Given the description of an element on the screen output the (x, y) to click on. 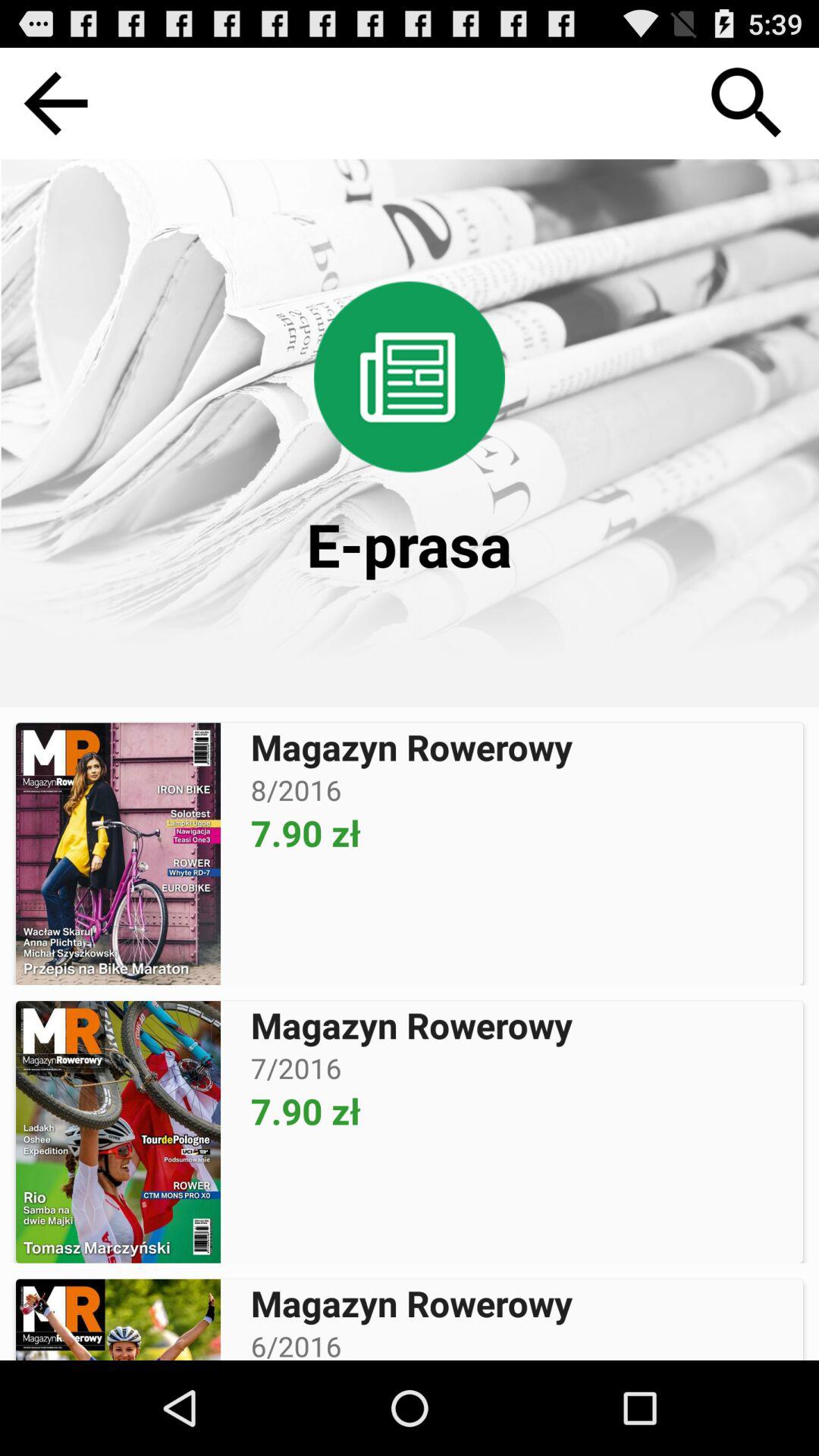
press icon at the top left corner (55, 103)
